Given the description of an element on the screen output the (x, y) to click on. 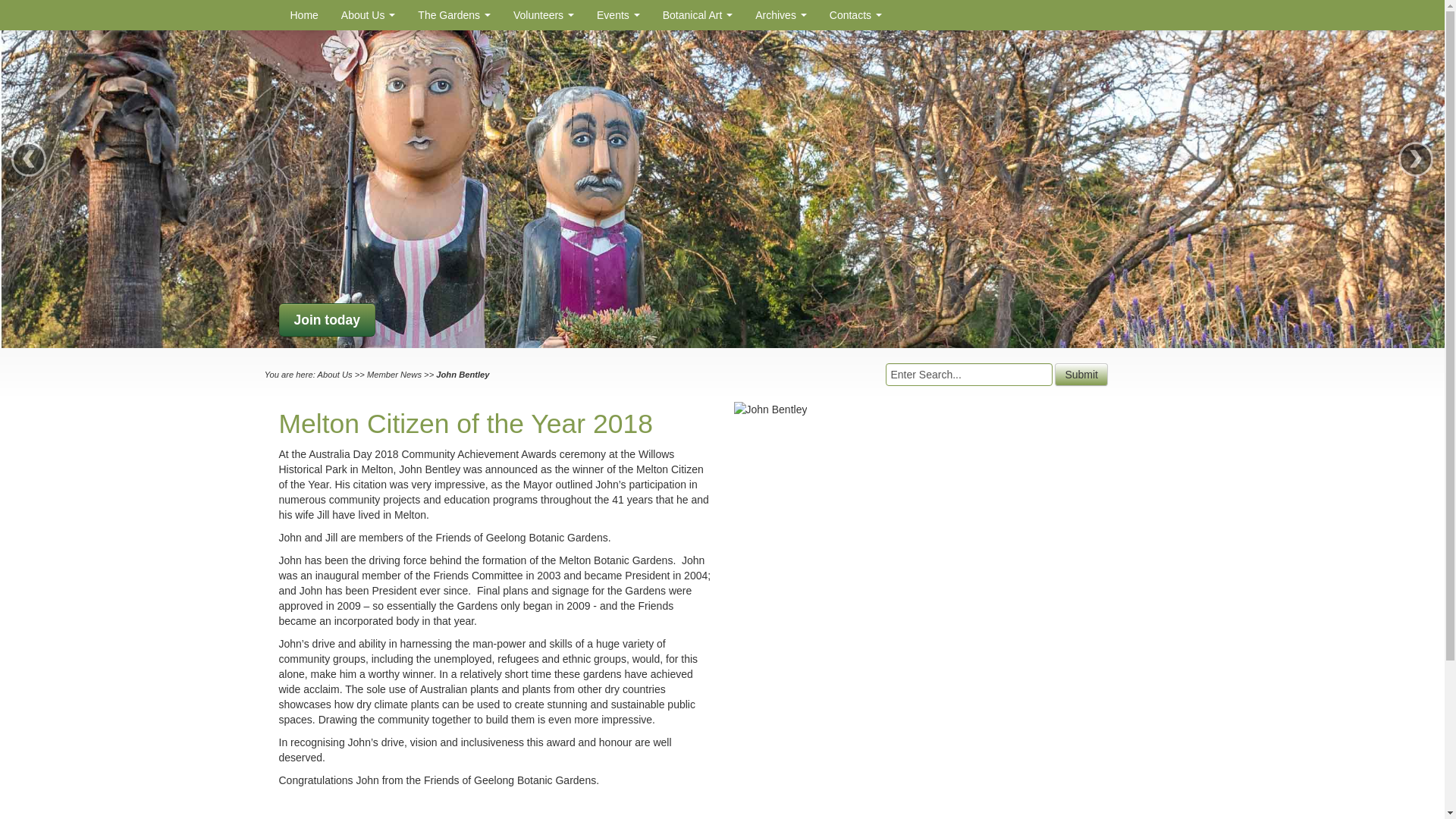
The Gardens (454, 15)
back to top (722, 818)
Enter Search... (968, 374)
Archives (781, 15)
Volunteers (543, 15)
Submit (1081, 374)
About Us (368, 15)
Botanical Art (697, 15)
back to top (722, 818)
Enter Search... (968, 374)
Events (617, 15)
John Bentley (770, 409)
Home (304, 15)
